Given the description of an element on the screen output the (x, y) to click on. 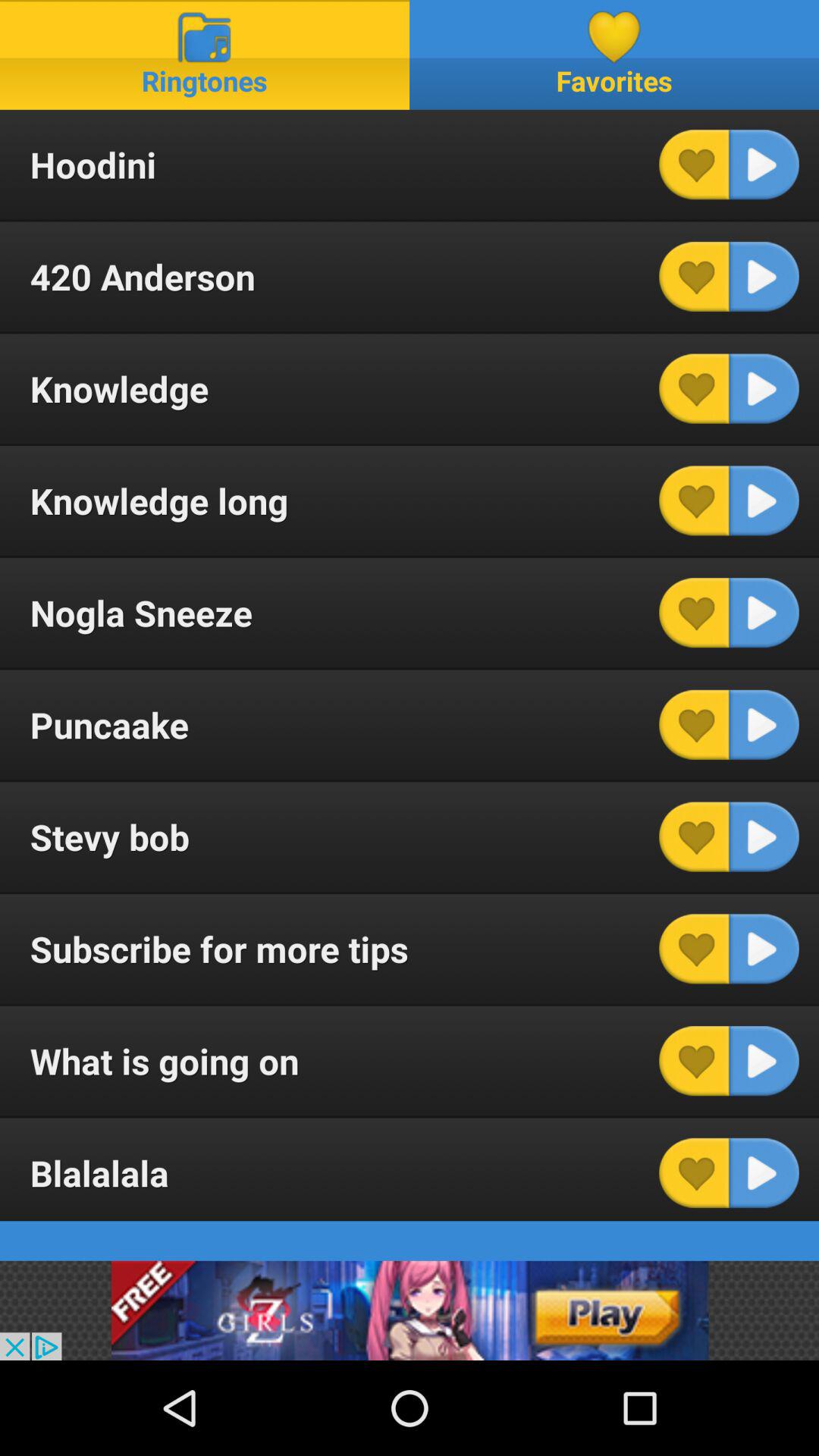
check knowledge (694, 388)
